Given the description of an element on the screen output the (x, y) to click on. 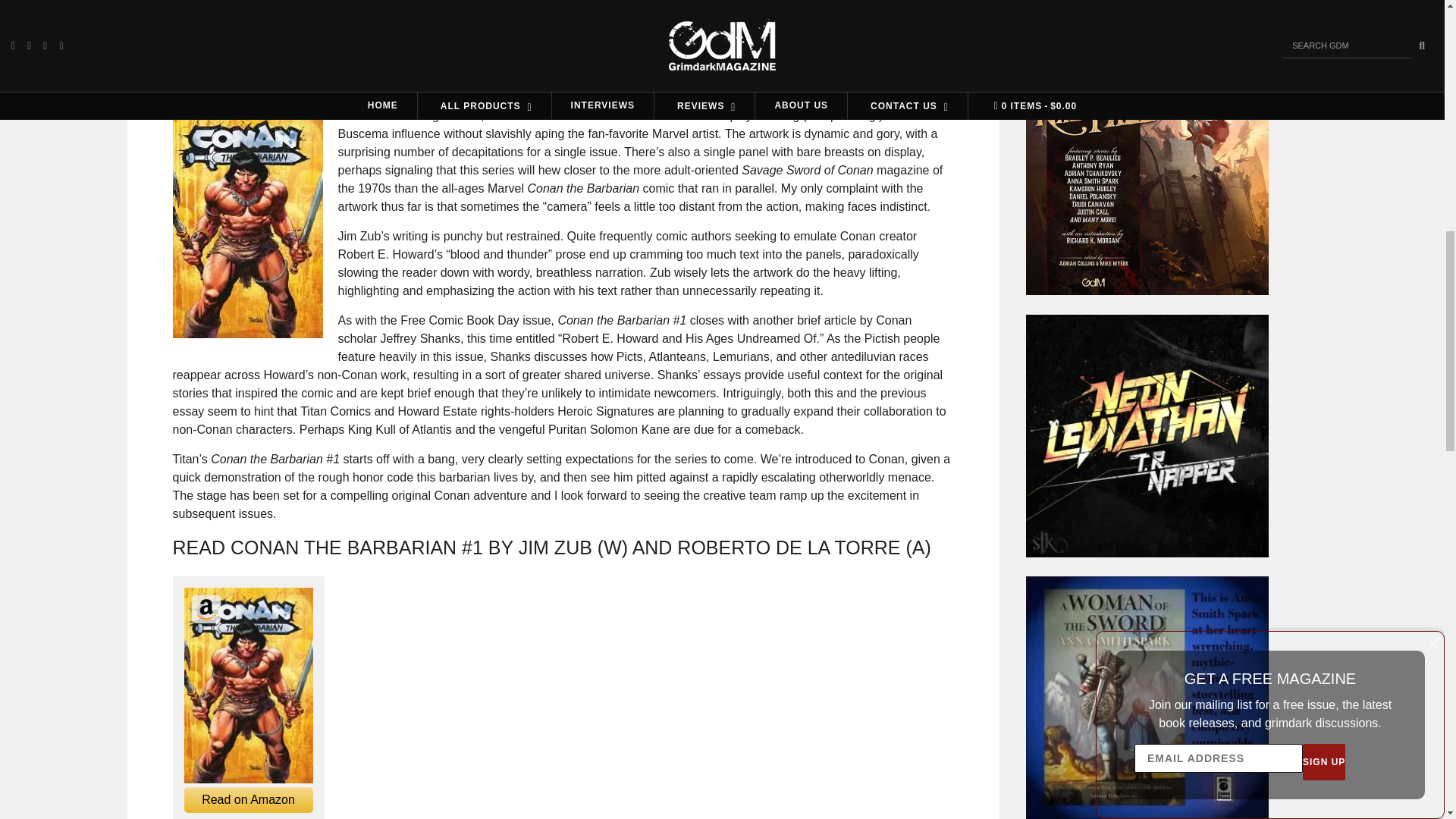
Read on Amazon (248, 800)
